Given the description of an element on the screen output the (x, y) to click on. 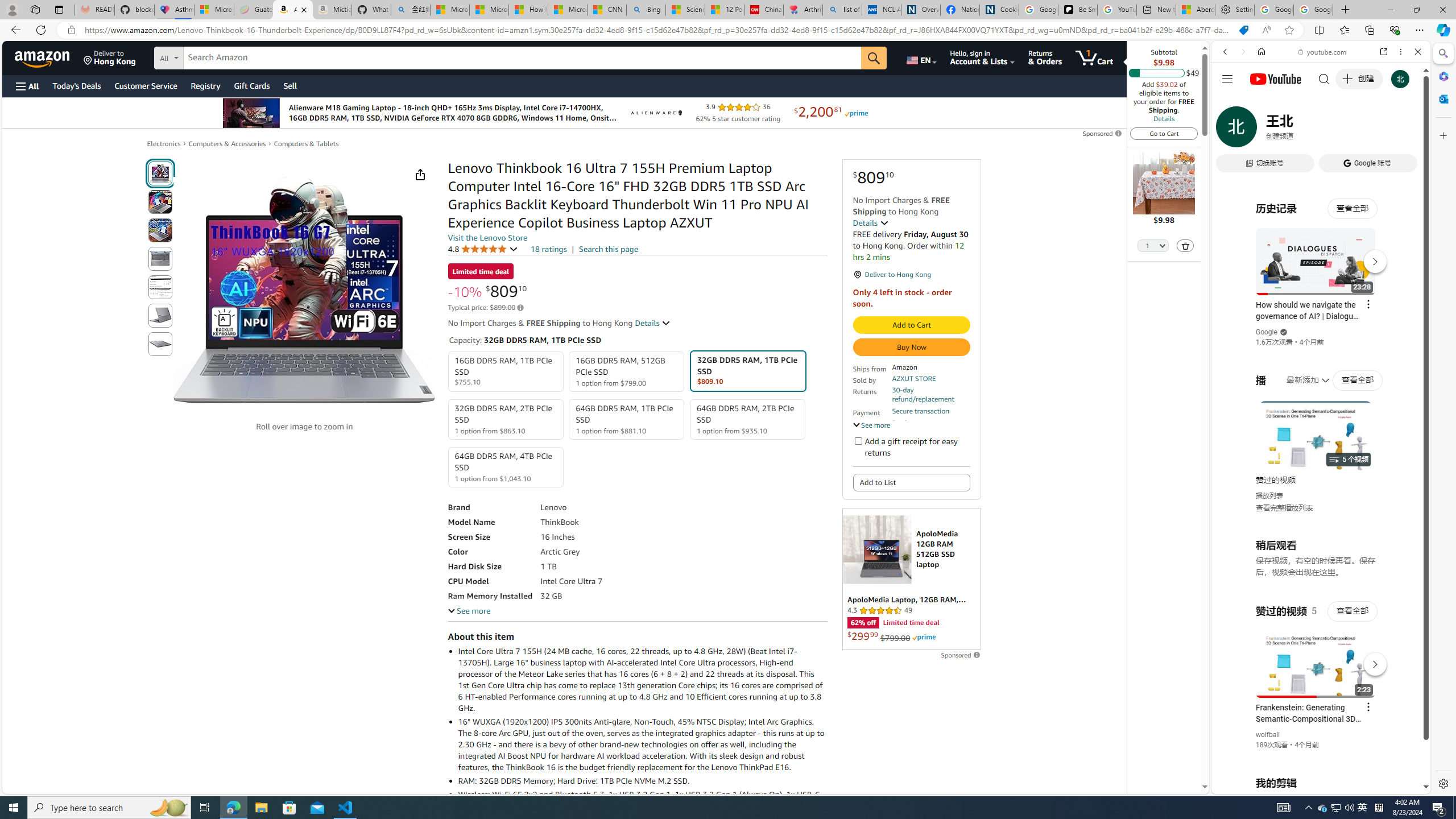
Secure transaction (920, 411)
Share (419, 174)
18 ratings (547, 248)
Buy Now (911, 347)
Computers & Tablets (306, 144)
Electronics (163, 144)
New tab (1155, 9)
Be Smart | creating Science videos | Patreon (1077, 9)
Microsoft-Report a Concern to Bing (213, 9)
Open link in new tab (1383, 51)
Aberdeen, Hong Kong SAR hourly forecast | Microsoft Weather (1195, 9)
Choose a language for shopping. (920, 57)
